Given the description of an element on the screen output the (x, y) to click on. 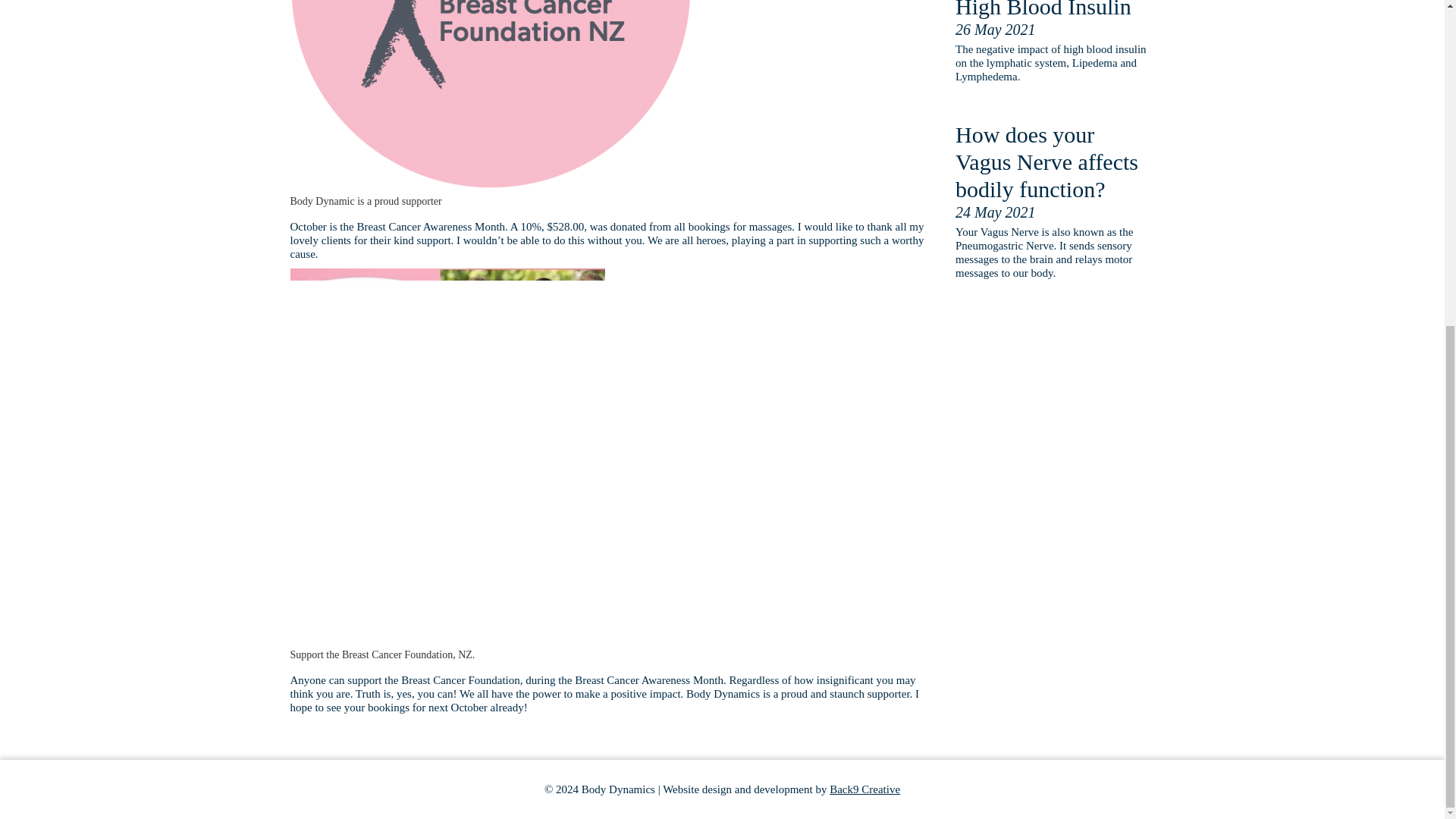
Lipedema, Lymphedema and High Blood Insulin (1054, 10)
Back9 Creative (864, 788)
How does your Vagus Nerve affects bodily function? (1054, 162)
